Given the description of an element on the screen output the (x, y) to click on. 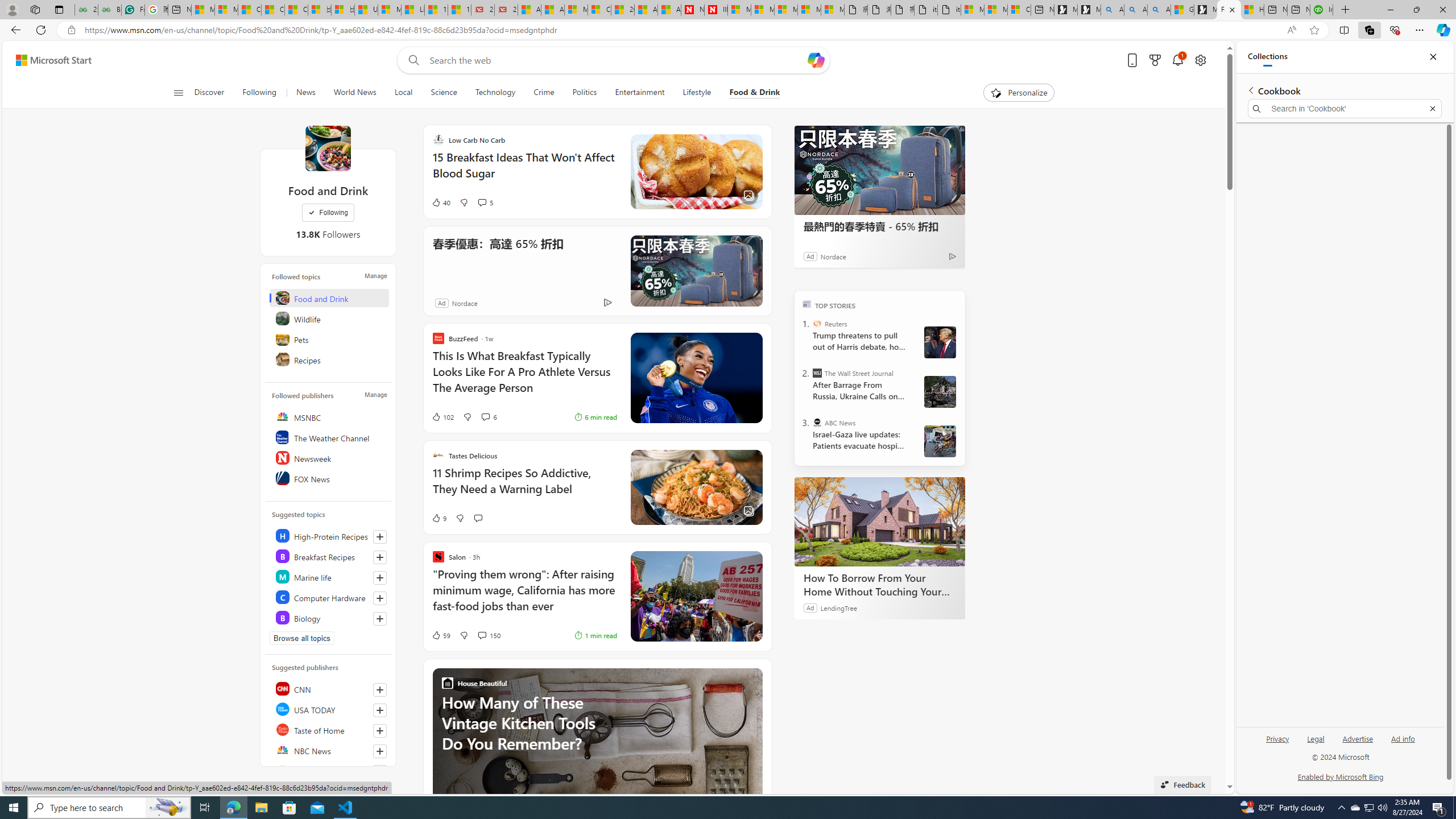
Intuit QuickBooks Online - Quickbooks (1321, 9)
How to Use a TV as a Computer Monitor (1252, 9)
Pets (328, 339)
ABC News (816, 422)
Lifestyle - MSN (412, 9)
11 Shrimp Recipes So Addictive, They Need a Warning Label (524, 486)
